Given the description of an element on the screen output the (x, y) to click on. 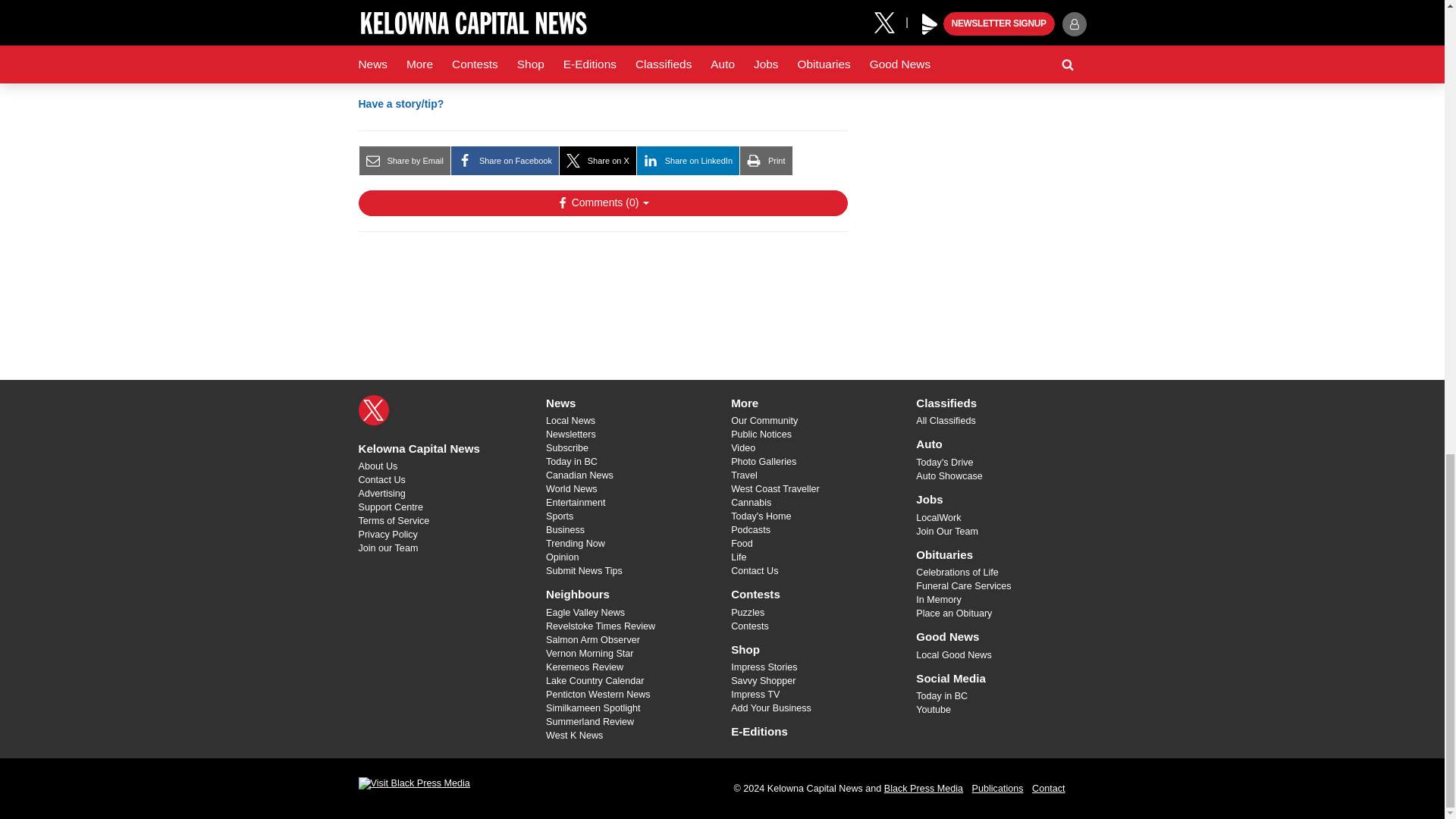
Show Comments (602, 203)
X (373, 409)
